Given the description of an element on the screen output the (x, y) to click on. 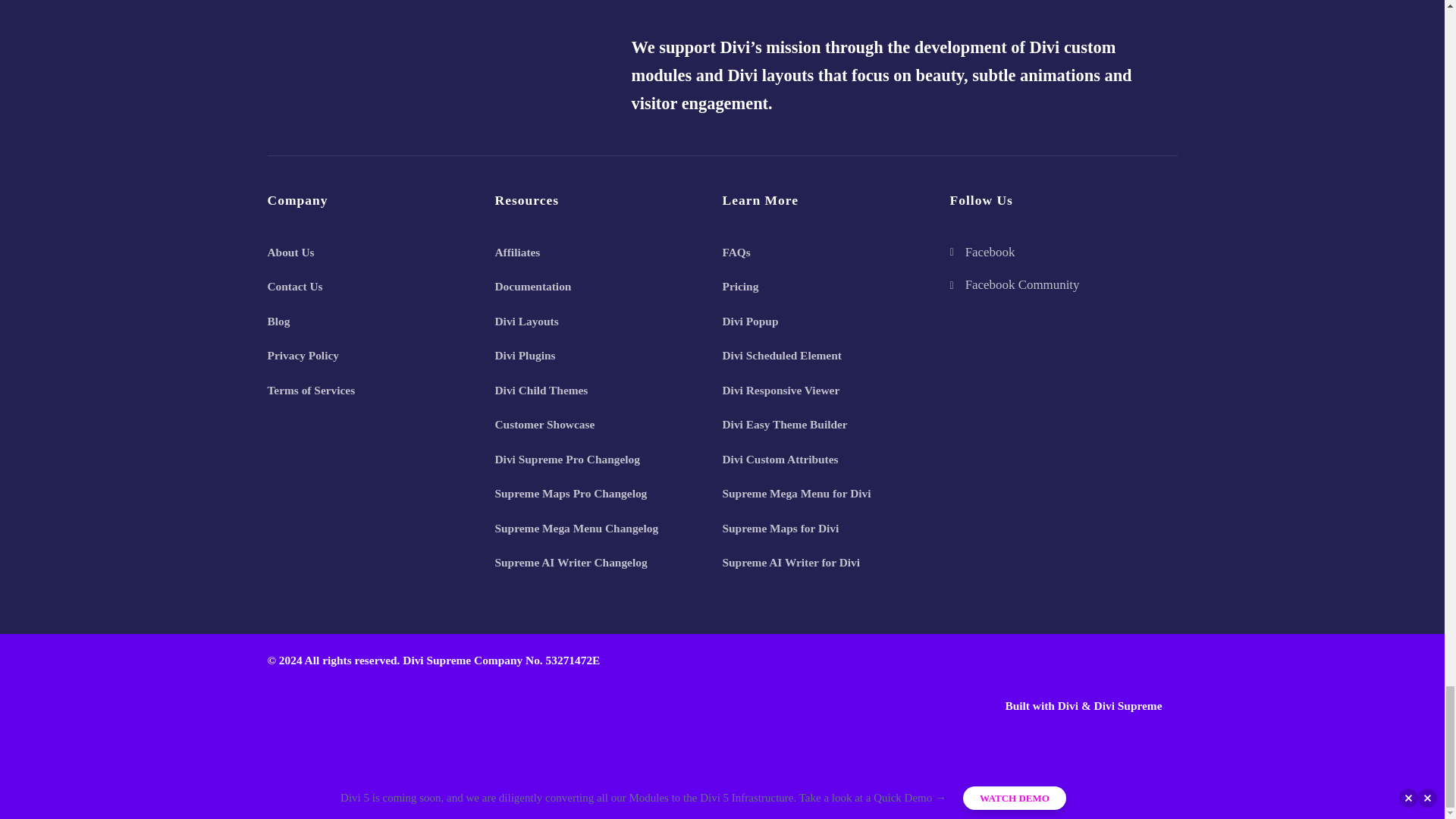
Contact Us (293, 287)
Privacy Policy (301, 355)
Terms of Services (310, 391)
Blog (277, 320)
Affiliates (517, 252)
About Us (290, 252)
